Given the description of an element on the screen output the (x, y) to click on. 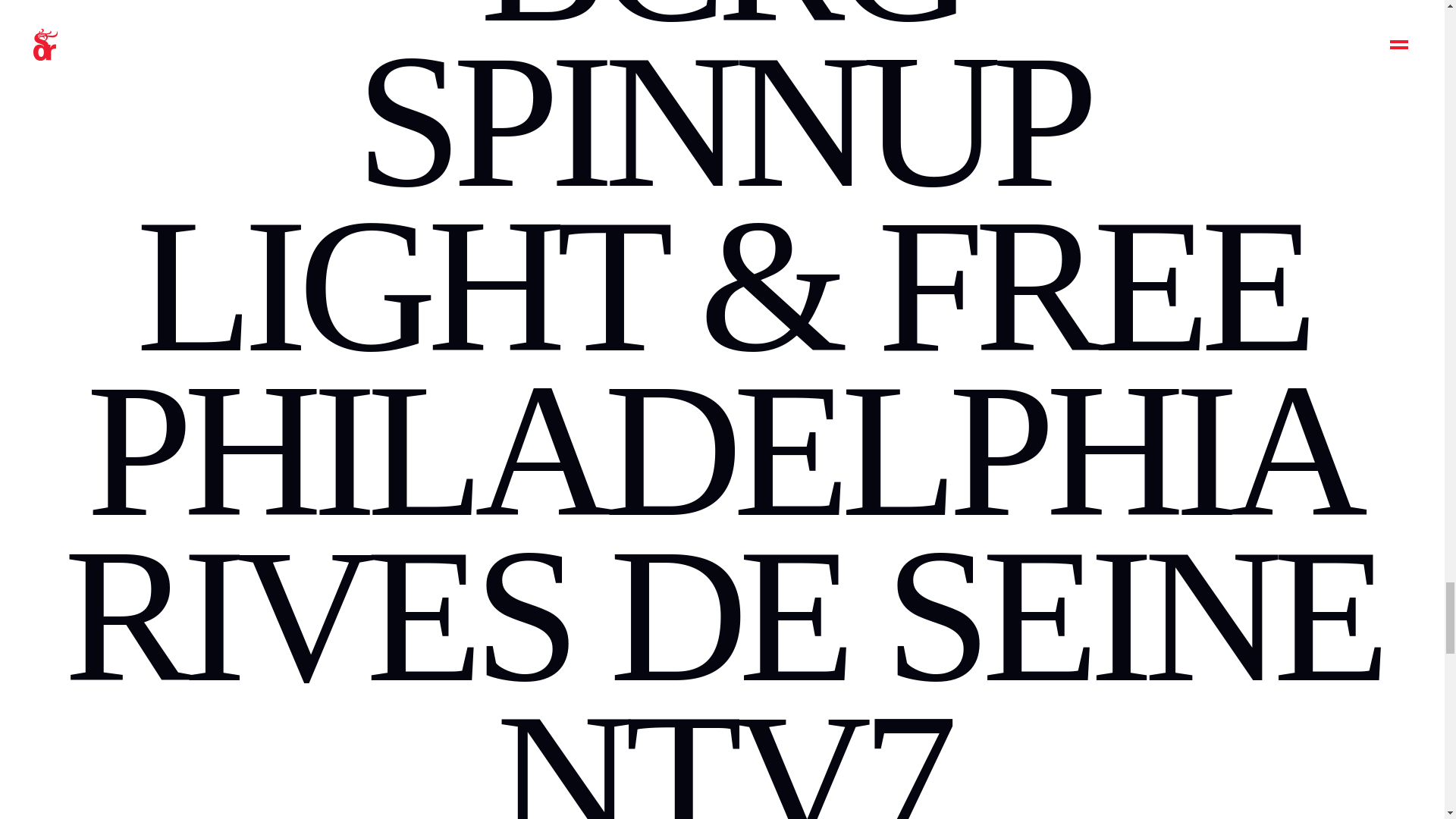
BCRG (721, 31)
NTV7 (722, 746)
